Given the description of an element on the screen output the (x, y) to click on. 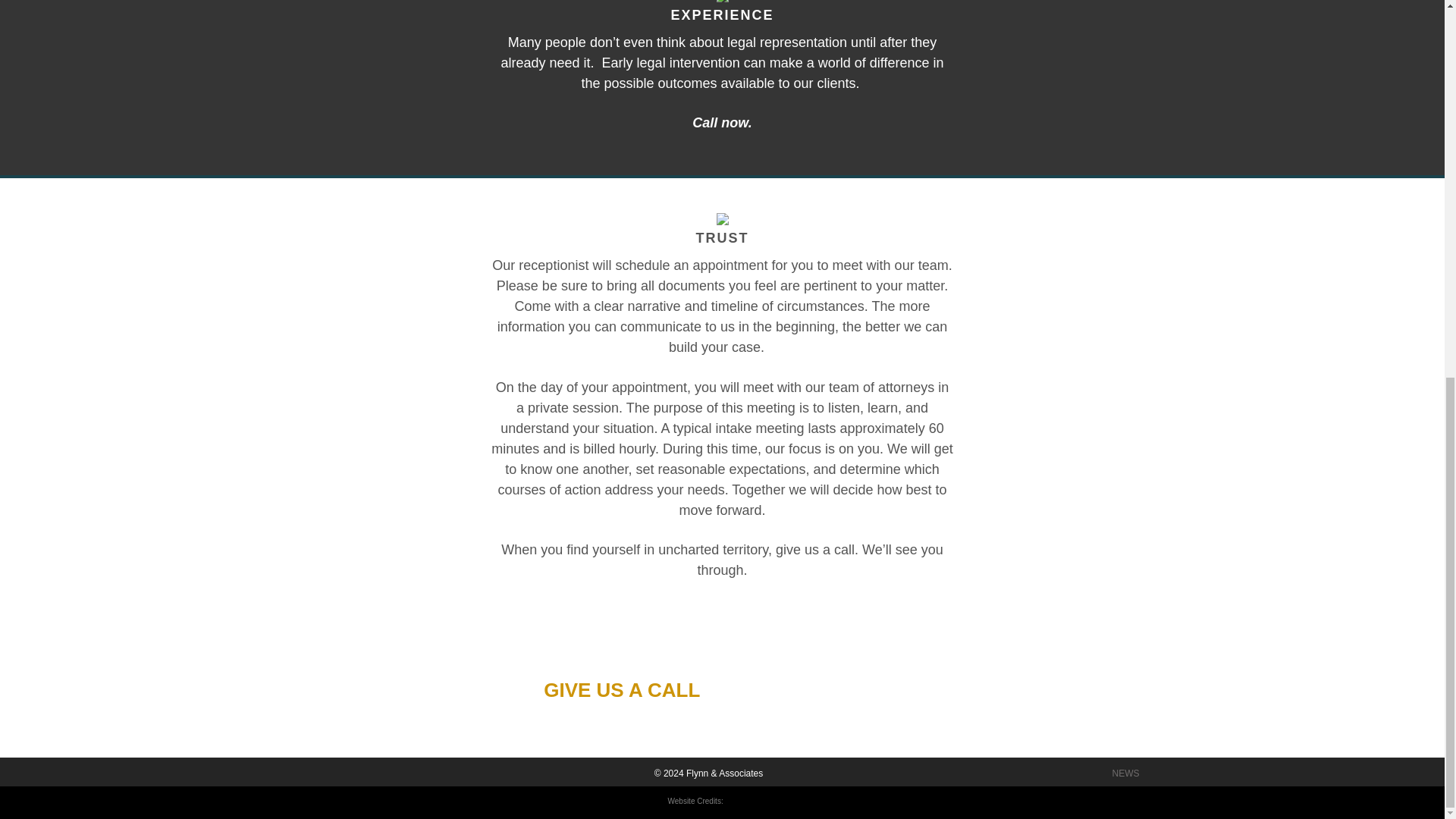
NEWS (1125, 773)
